Given the description of an element on the screen output the (x, y) to click on. 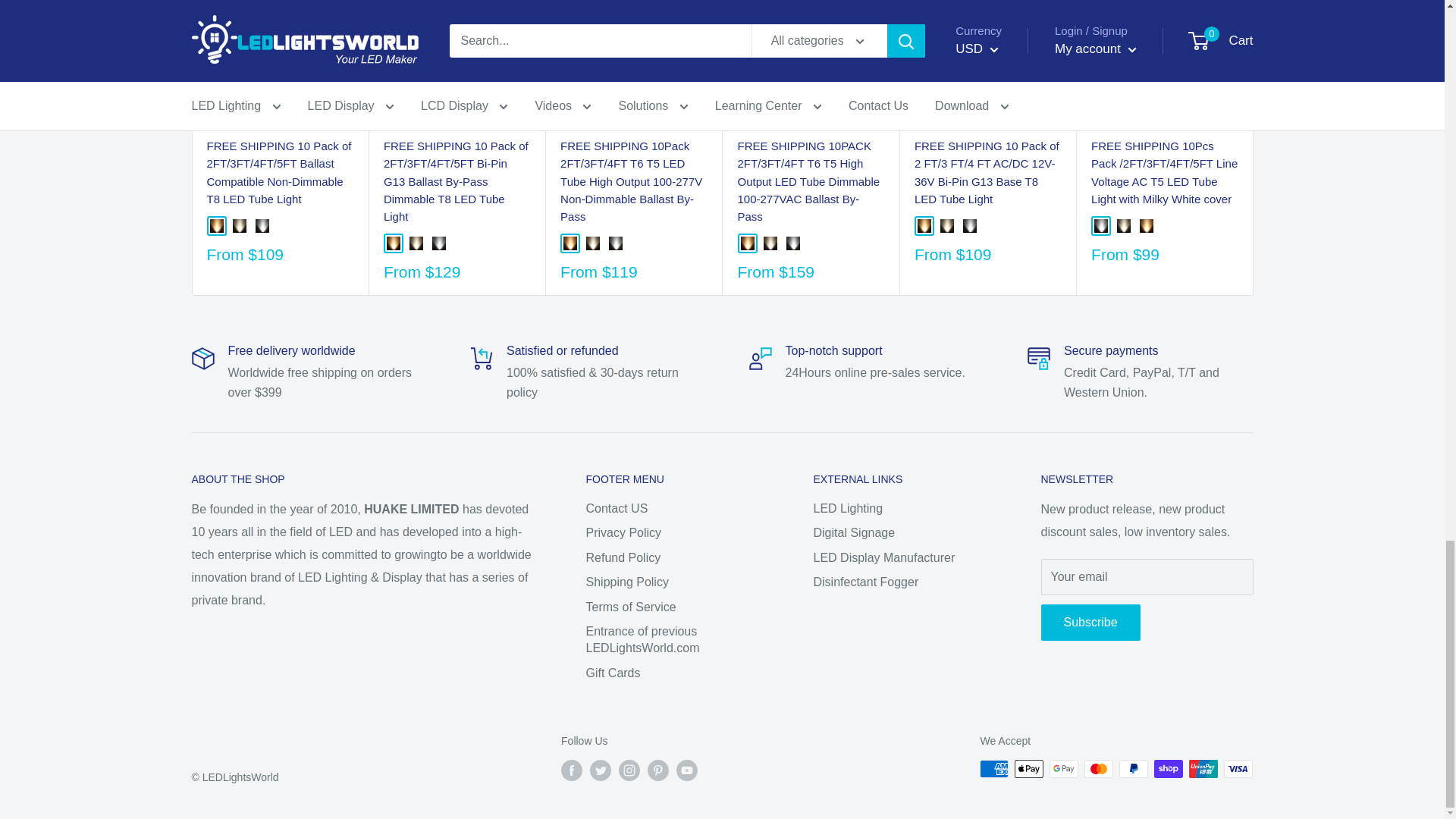
Natural White 4000K (592, 243)
Warm White 3000K (393, 243)
Warm White 3000K (569, 243)
Pure White 5500K (438, 243)
Natural White 4000K (416, 243)
Warm White 3000K (746, 243)
Pure White 5500K (615, 243)
Pure White 5500K (260, 225)
Natural White 4000K (238, 225)
Warm White 3000K (215, 225)
